Given the description of an element on the screen output the (x, y) to click on. 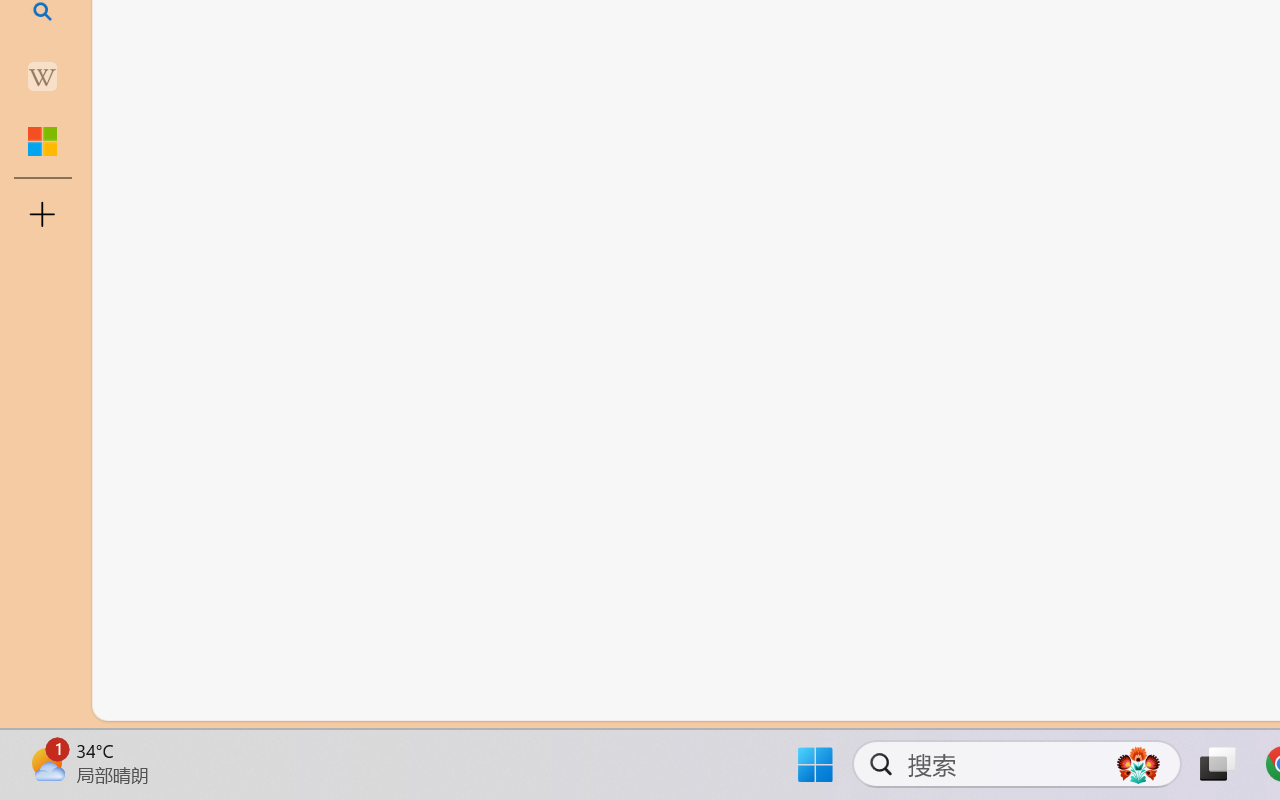
remote (122, 698)
